Given the description of an element on the screen output the (x, y) to click on. 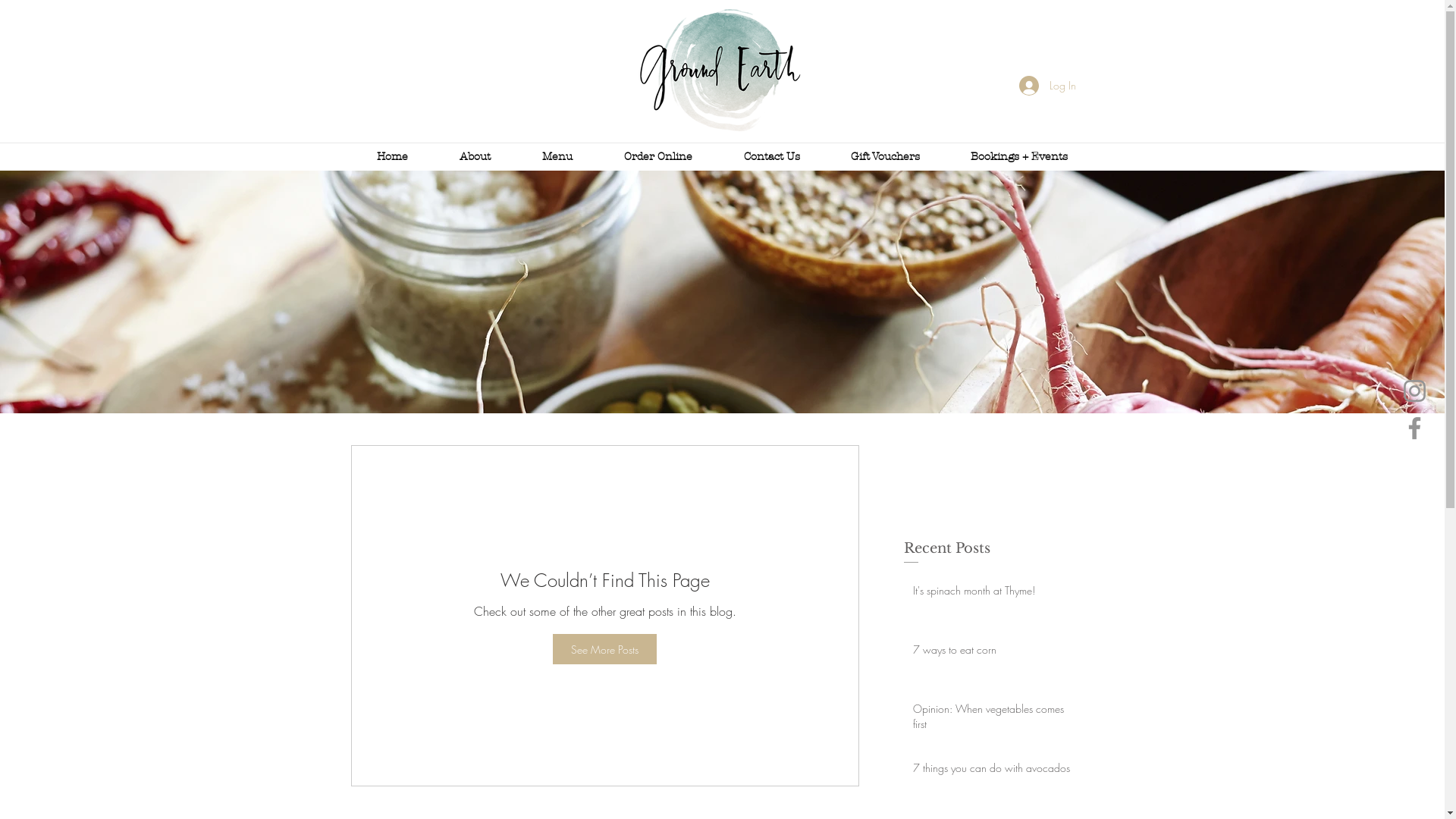
Opinion: When vegetables comes first Element type: text (993, 719)
Log In Element type: text (1047, 85)
Order Online Element type: text (657, 156)
It's spinach month at Thyme! Element type: text (993, 593)
Contact Us Element type: text (771, 156)
Home Element type: text (391, 156)
About Element type: text (474, 156)
See More Posts Element type: text (604, 648)
7 things you can do with avocados Element type: text (993, 770)
Bookings + Events Element type: text (1018, 156)
Menu Element type: text (556, 156)
7 ways to eat corn Element type: text (993, 652)
Gift Vouchers Element type: text (884, 156)
